Given the description of an element on the screen output the (x, y) to click on. 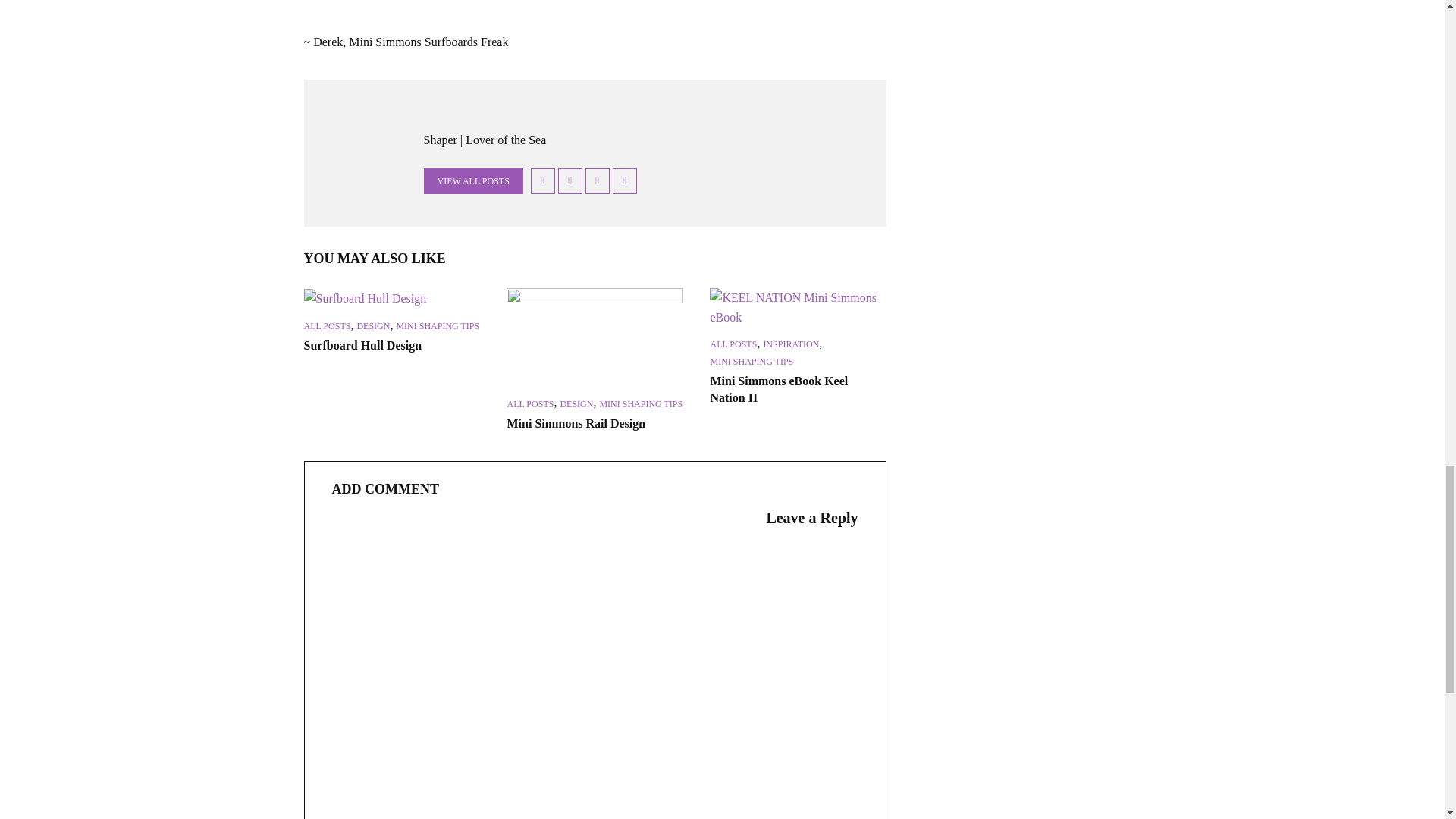
Surfboard Hull Design (390, 298)
Mini Simmons eBook Keel Nation II (797, 307)
Mini Simmons Rail Design (594, 337)
